Given the description of an element on the screen output the (x, y) to click on. 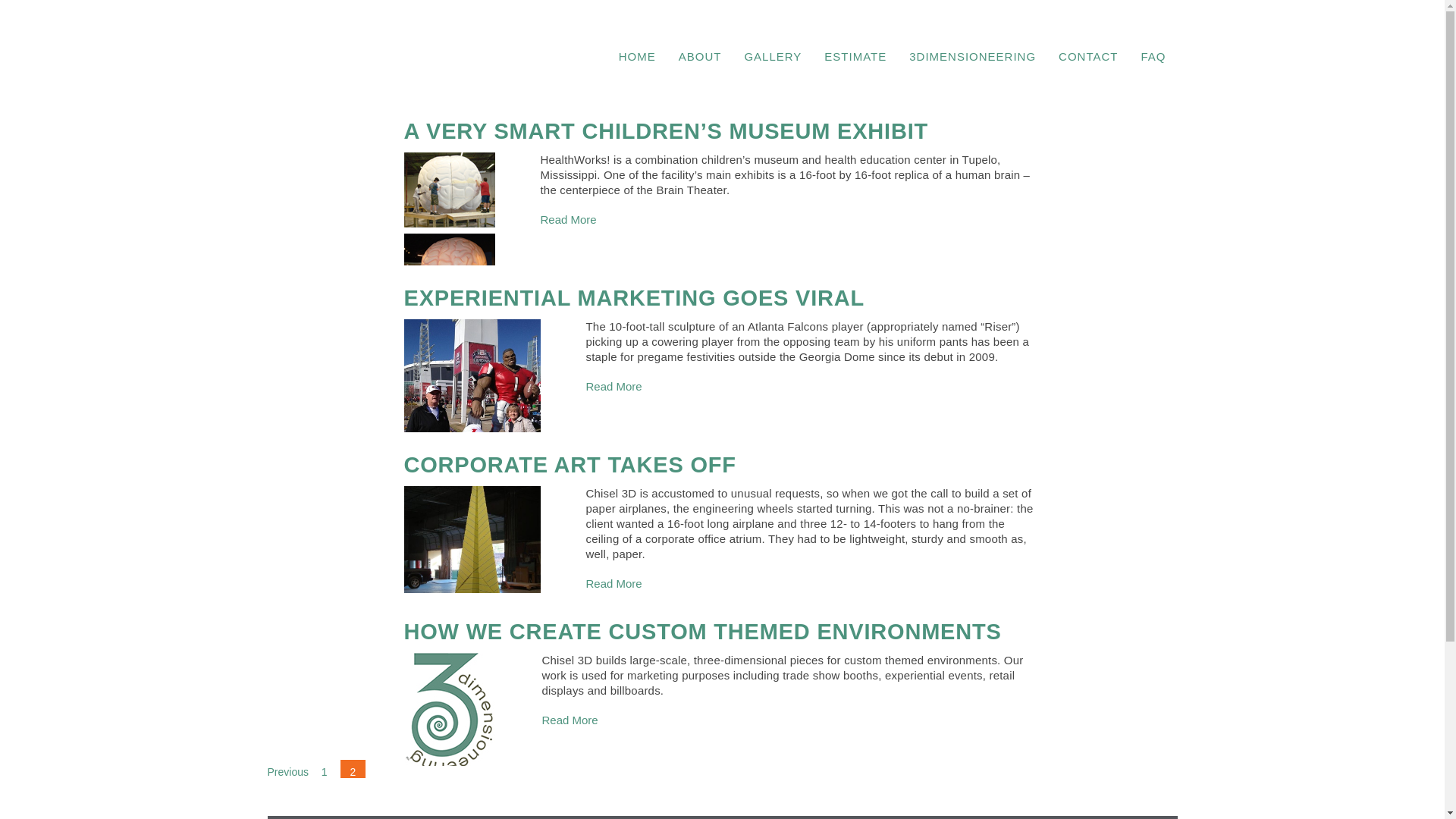
ABOUT (700, 56)
CONTACT (1088, 56)
GALLERY (773, 56)
GALLERY (773, 56)
Read More (572, 219)
CONTACT (1088, 56)
ESTIMATE (855, 56)
ESTIMATE (855, 56)
3DIMENSIONEERING (971, 56)
